Given the description of an element on the screen output the (x, y) to click on. 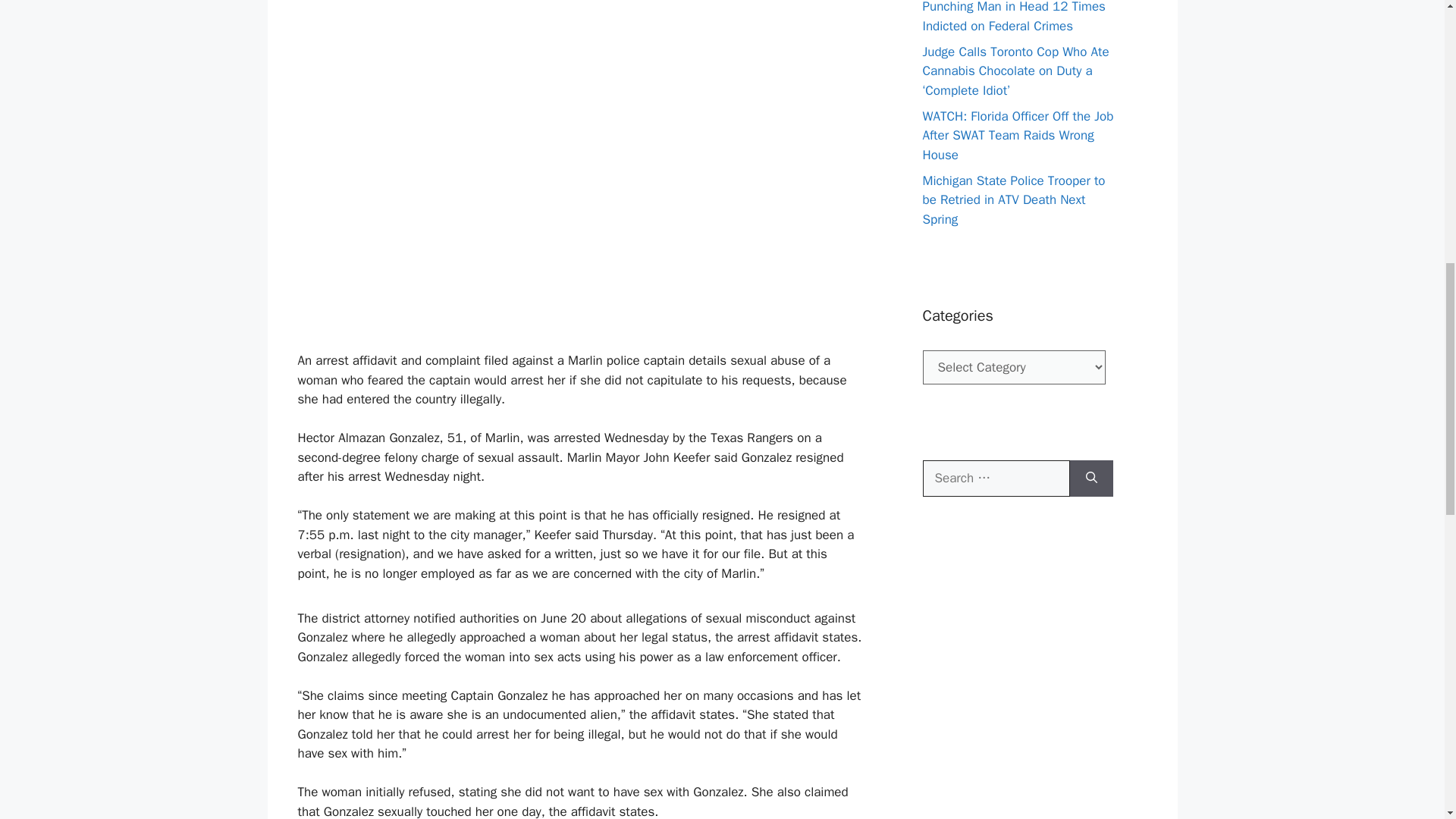
Search for: (994, 478)
